Given the description of an element on the screen output the (x, y) to click on. 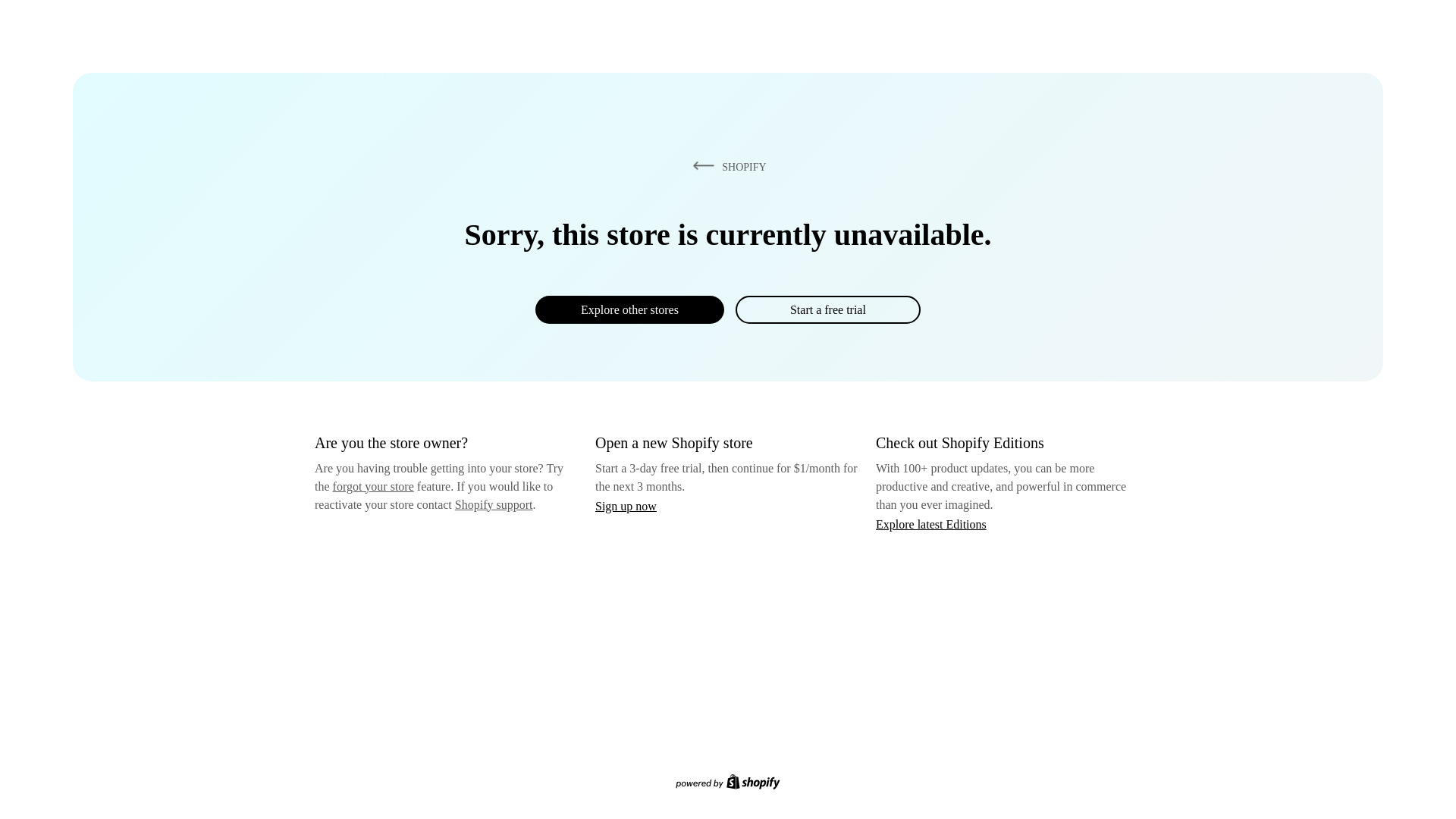
Start a free trial (827, 309)
Explore latest Editions (931, 523)
Sign up now (625, 505)
forgot your store (373, 486)
Explore other stores (629, 309)
SHOPIFY (726, 166)
Shopify support (493, 504)
